Given the description of an element on the screen output the (x, y) to click on. 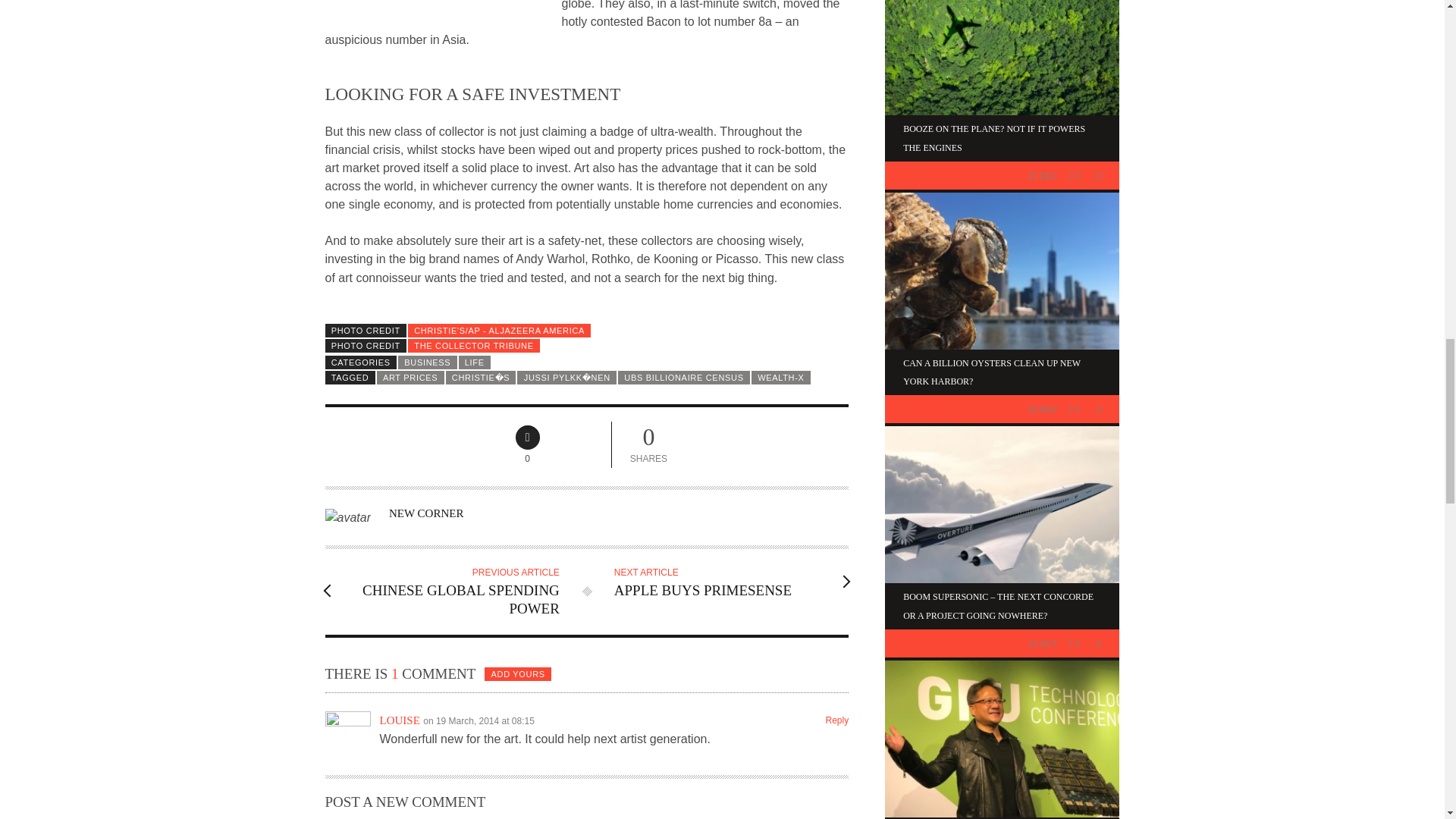
View all posts in Innovation (930, 175)
View all posts tagged Wealth-X (450, 590)
UBS BILLIONAIRE CENSUS (780, 377)
Reply (683, 377)
Posts by New Corner (721, 581)
ADD YOURS (836, 719)
View all posts in Environment (425, 512)
WEALTH-X (517, 673)
